Given the description of an element on the screen output the (x, y) to click on. 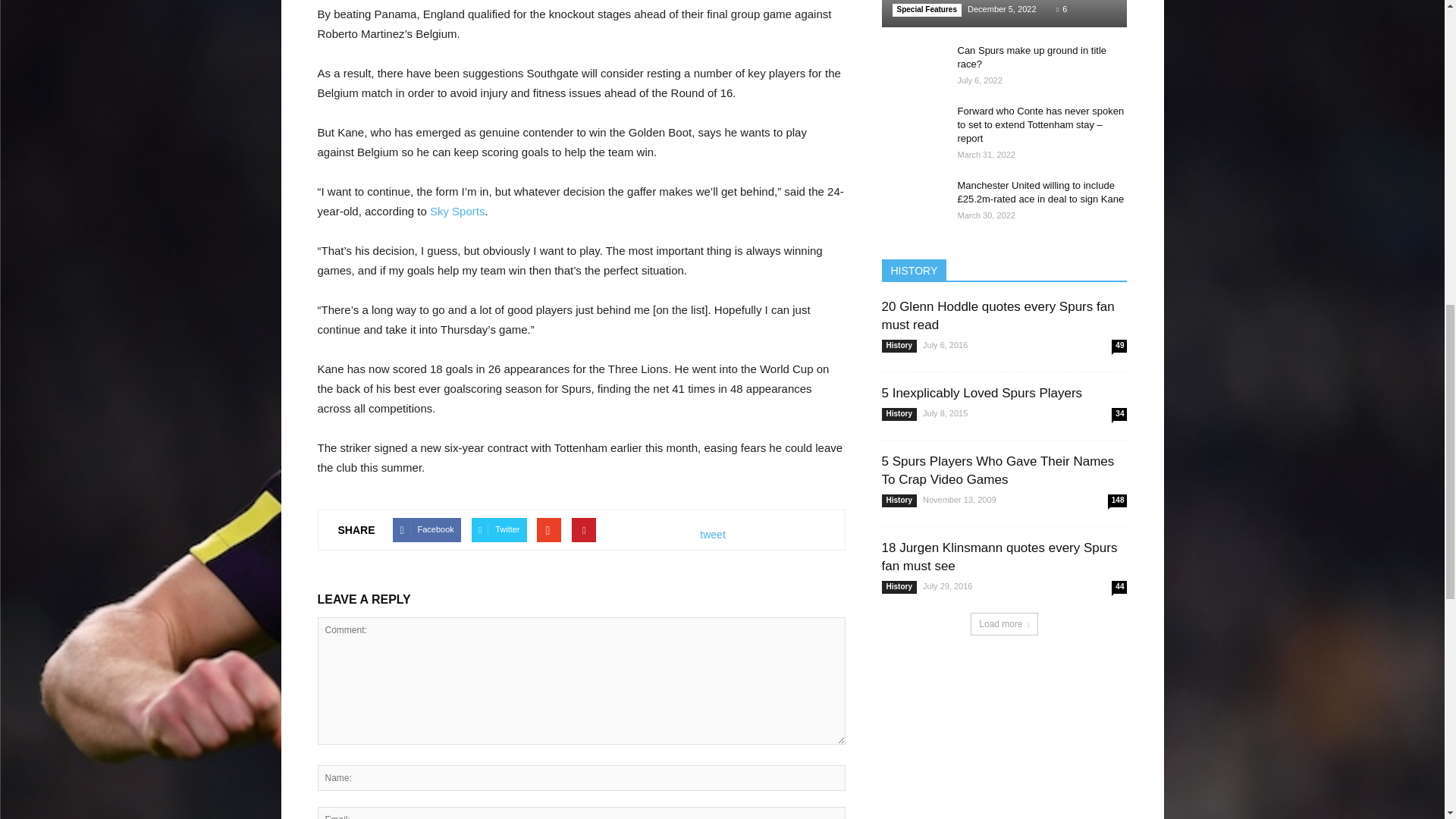
Can Spurs make up ground in title race? (1031, 57)
Can Spurs make up ground in title race? (911, 64)
Will Son shine at the 2022 World Cup? (1003, 13)
5 Spurs Players Who Gave Their Names To Crap Video Games (996, 470)
20 Glenn Hoddle quotes every Spurs fan must read (996, 315)
5 Inexplicably Loved Spurs Players (980, 392)
